Given the description of an element on the screen output the (x, y) to click on. 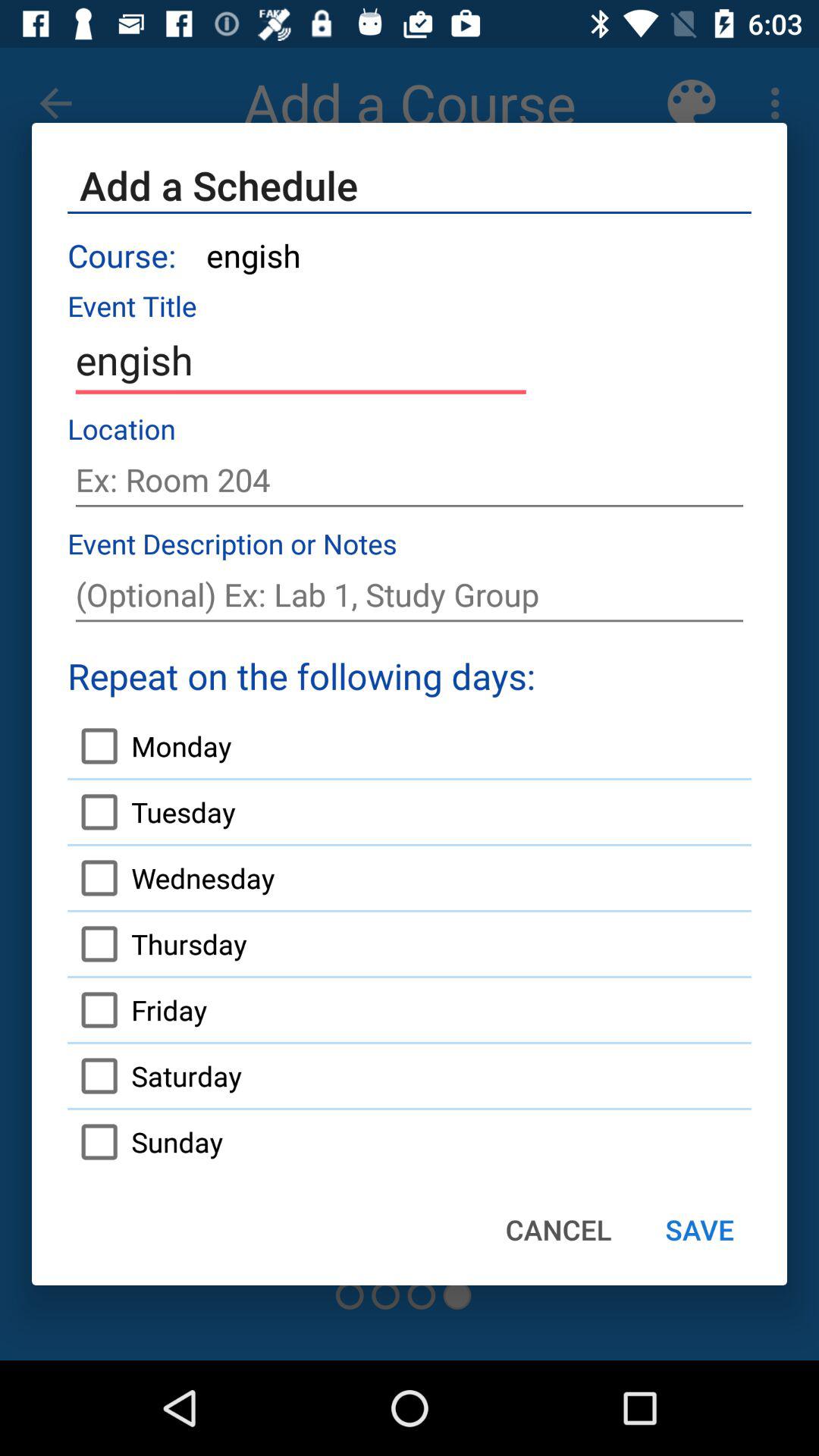
insert class location (409, 479)
